Given the description of an element on the screen output the (x, y) to click on. 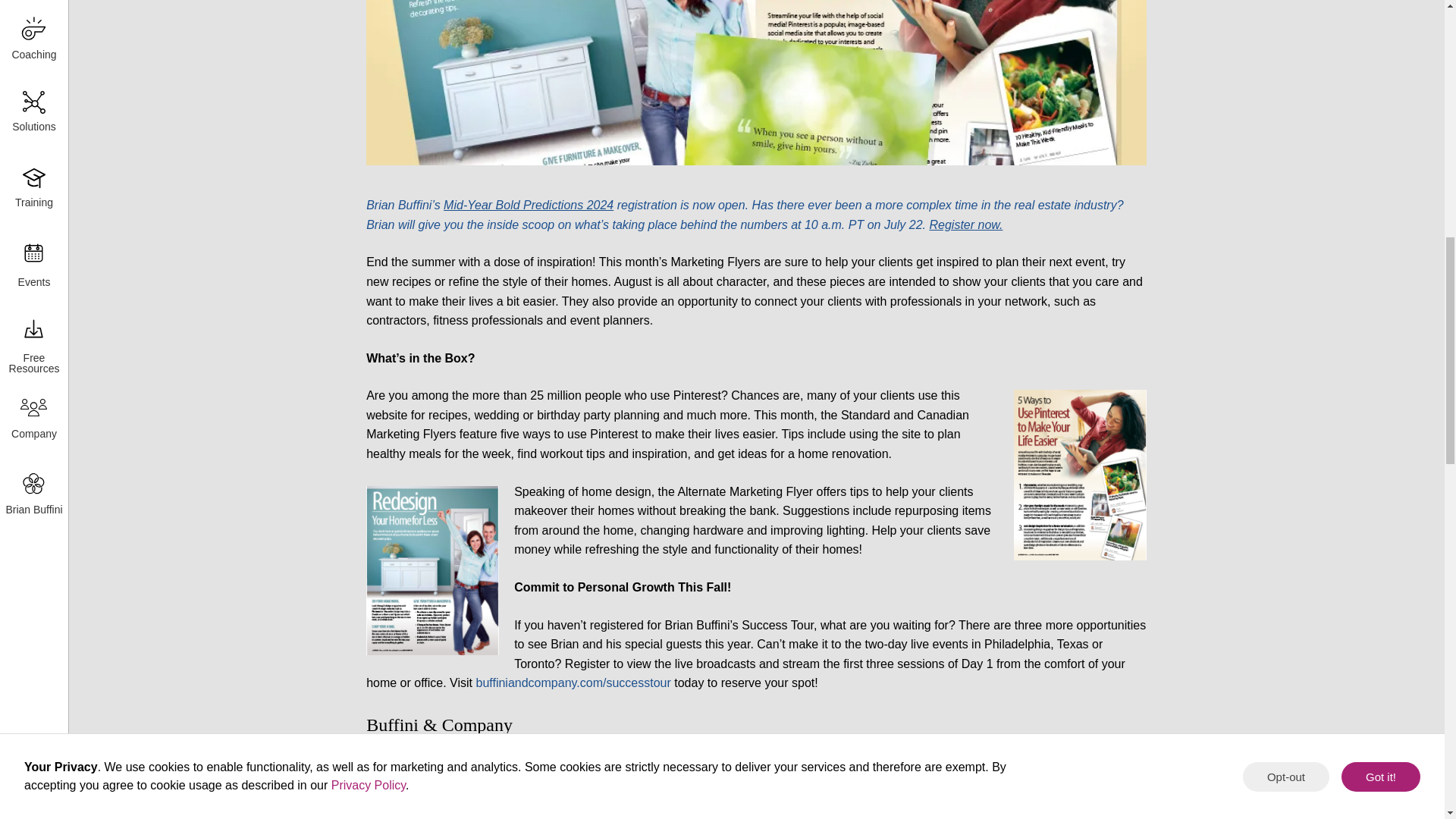
Click to share on Facebook (404, 779)
Click to share on LinkedIn (553, 779)
Click to share on Twitter (479, 779)
Click to share on Pinterest (630, 779)
